Given the description of an element on the screen output the (x, y) to click on. 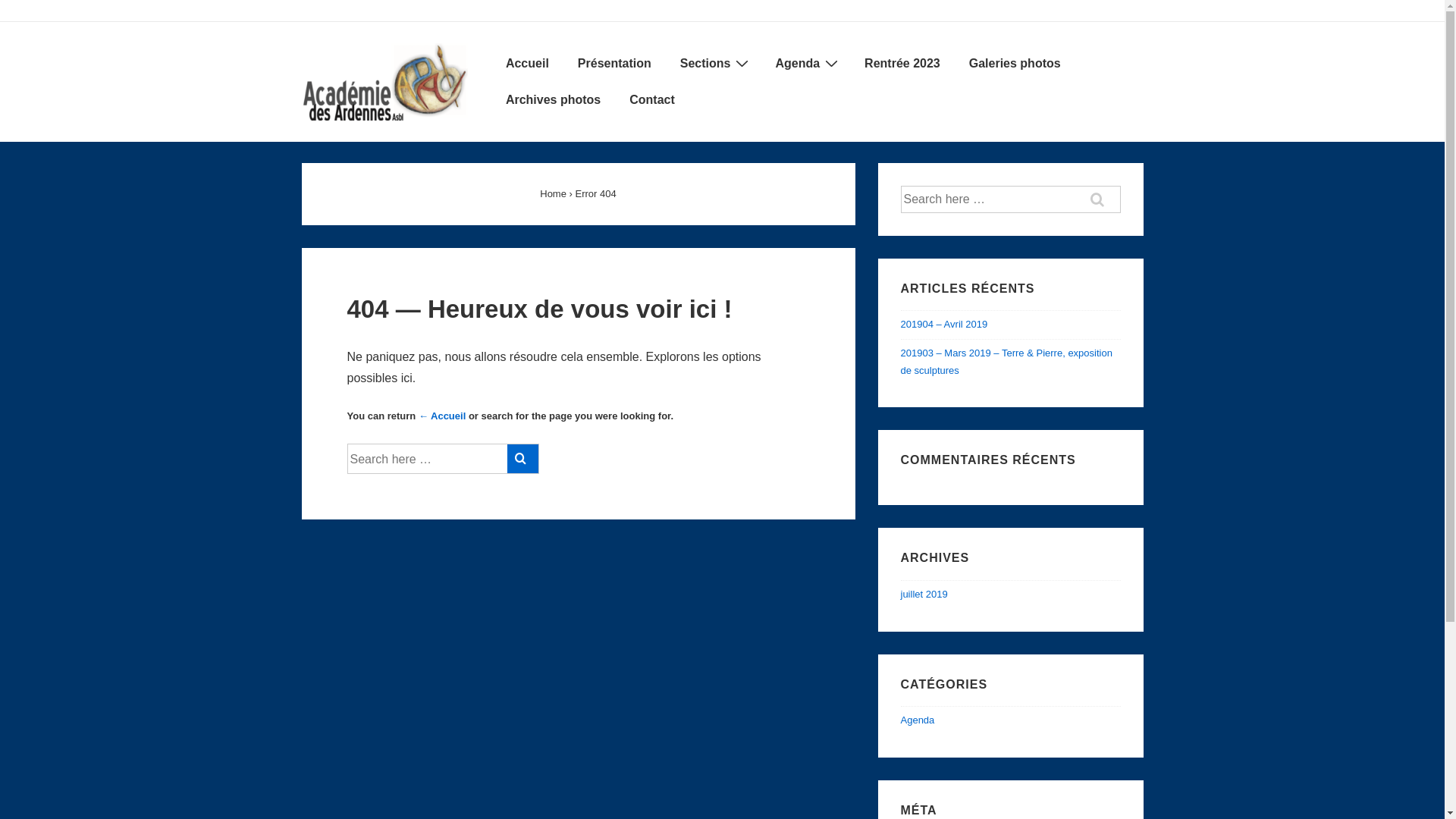
Galeries photos Element type: text (1014, 63)
Agenda Element type: text (917, 719)
Archives photos Element type: text (553, 99)
Contact Element type: text (651, 99)
Agenda Element type: text (805, 63)
Sections Element type: text (713, 63)
Home Element type: text (552, 193)
juillet 2019 Element type: text (923, 593)
Search Element type: text (522, 458)
Accueil Element type: text (527, 63)
